Given the description of an element on the screen output the (x, y) to click on. 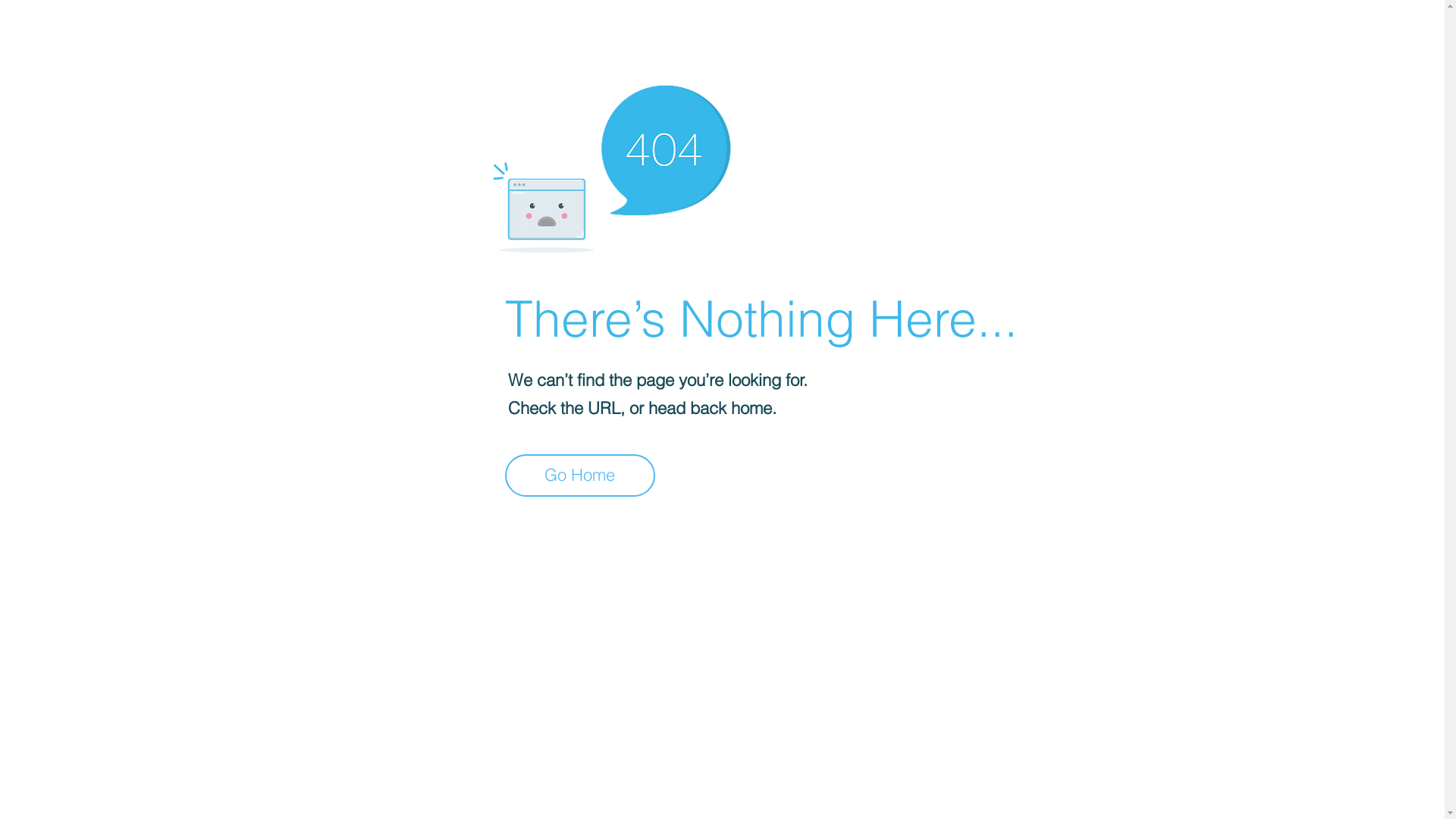
Go Home Element type: text (580, 475)
404-icon_2.png Element type: hover (610, 164)
